Given the description of an element on the screen output the (x, y) to click on. 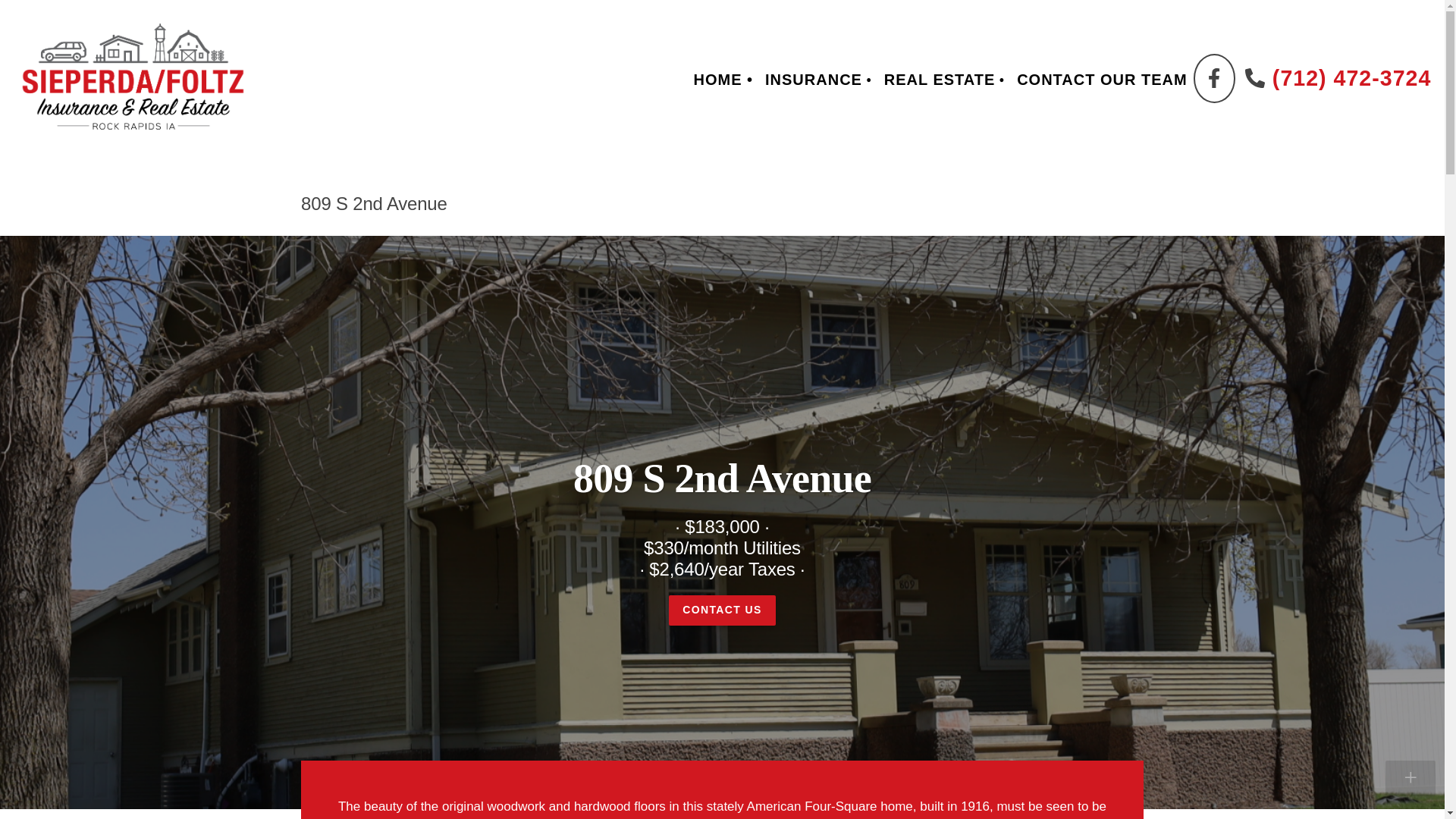
REAL ESTATE (943, 79)
HOME (722, 79)
INSURANCE (817, 79)
CONTACT OUR TEAM (1101, 79)
